Given the description of an element on the screen output the (x, y) to click on. 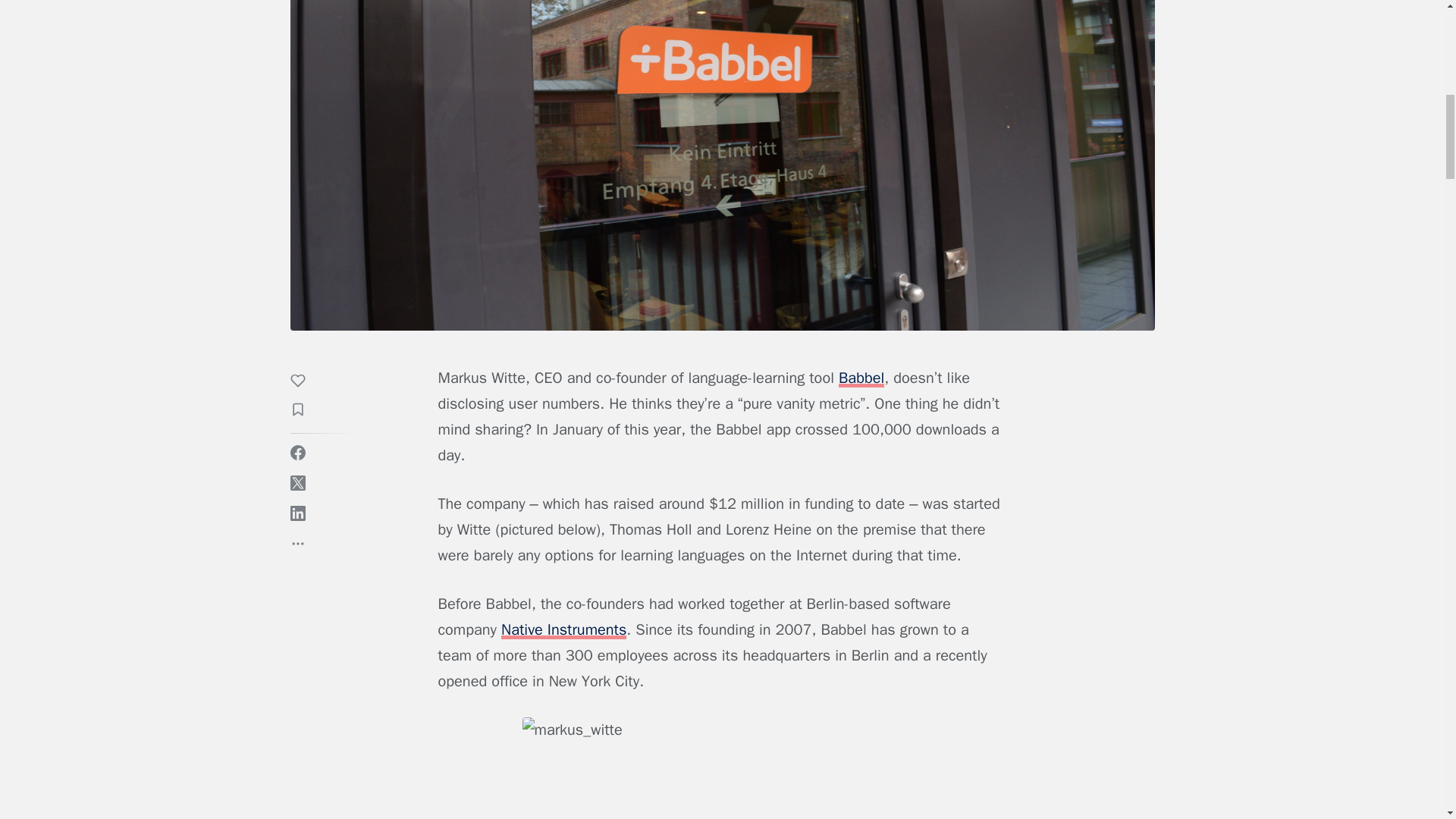
Share on Twitter (296, 482)
Like (304, 383)
Share on Facebook (296, 452)
Share on Linkedin (296, 513)
Add to collection (304, 411)
